Given the description of an element on the screen output the (x, y) to click on. 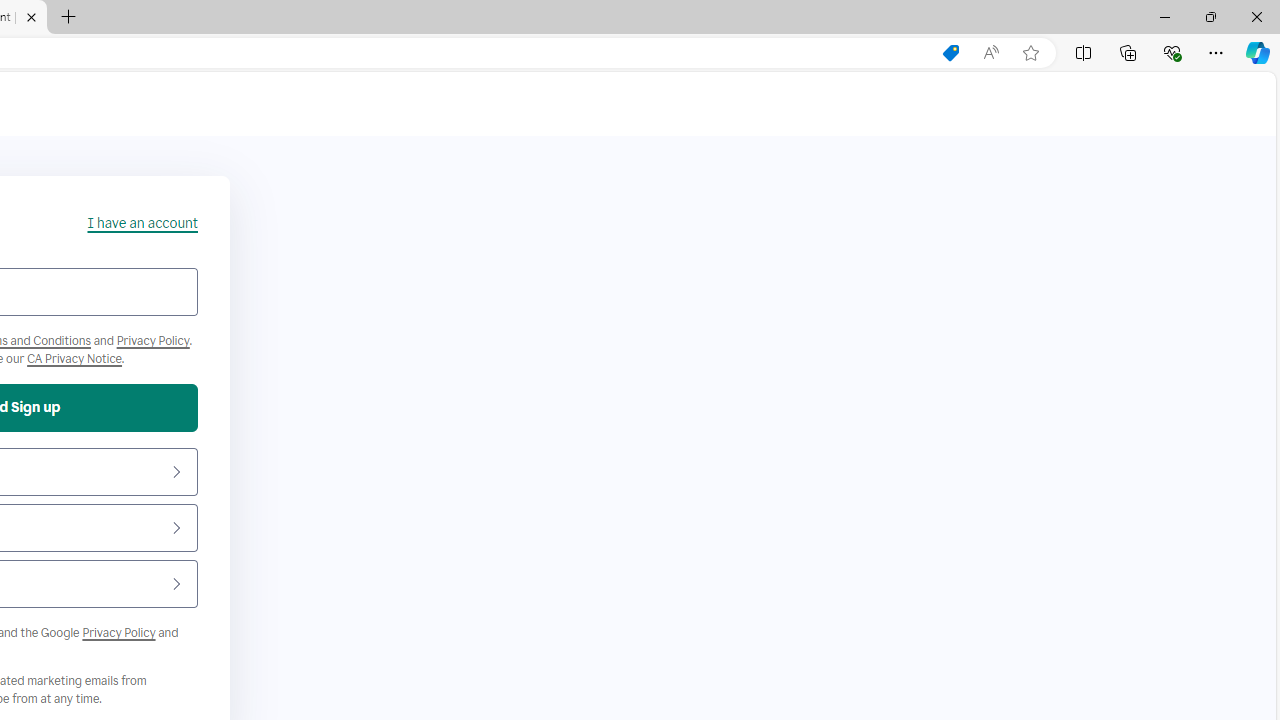
Grammarly Privacy Policy (74, 358)
